Given the description of an element on the screen output the (x, y) to click on. 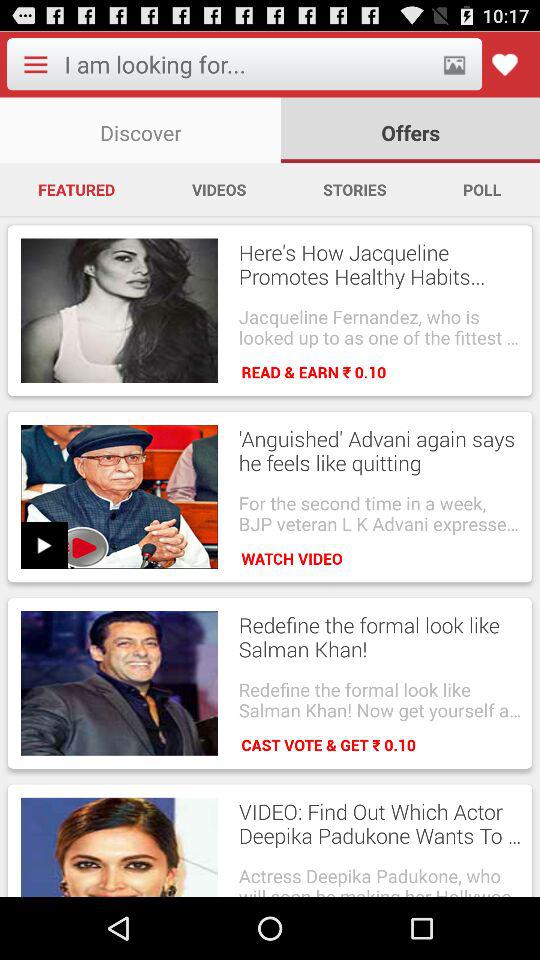
search textnox (246, 64)
